Given the description of an element on the screen output the (x, y) to click on. 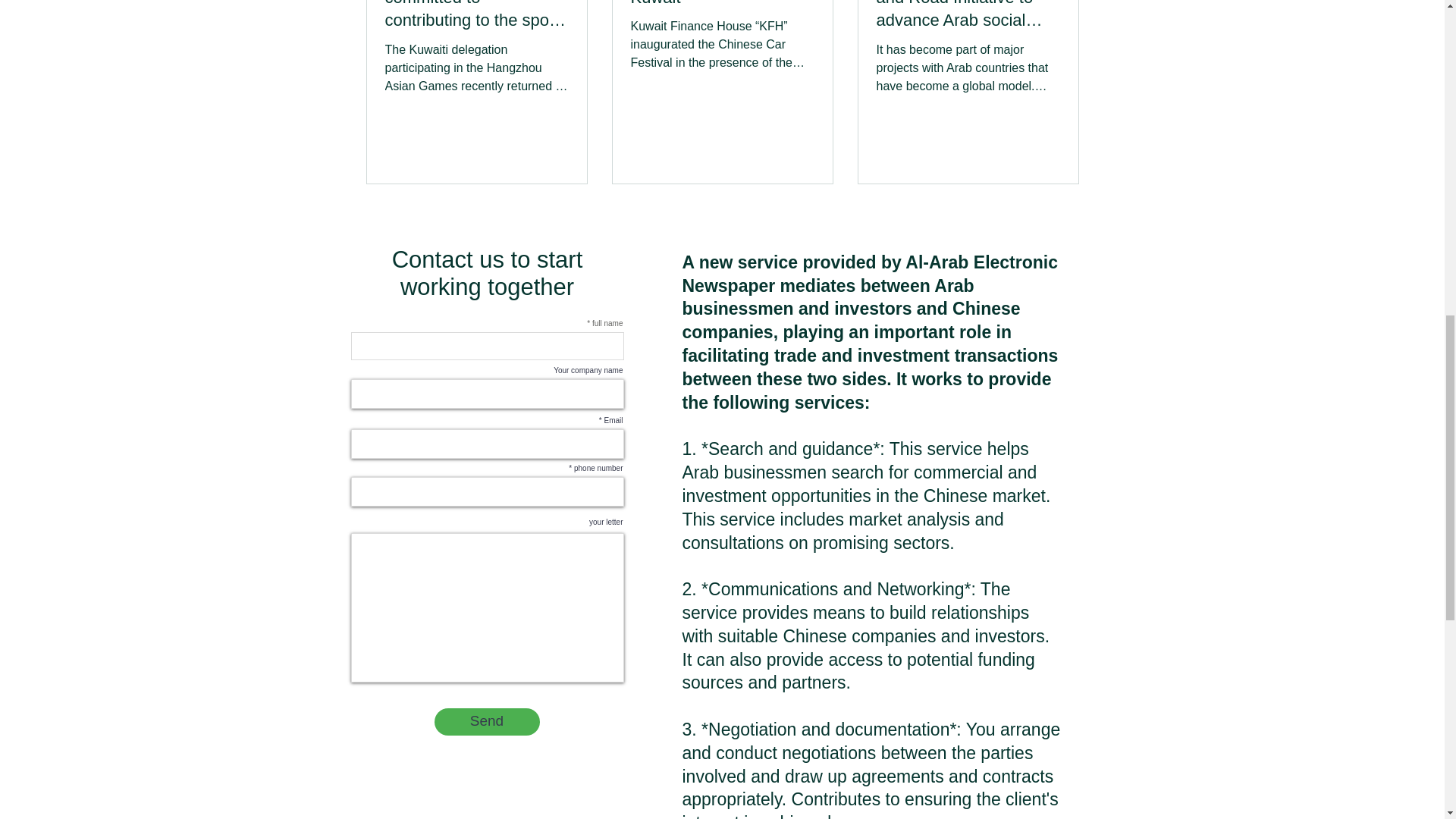
Chinese car show in Kuwait (721, 4)
Send (485, 721)
